Given the description of an element on the screen output the (x, y) to click on. 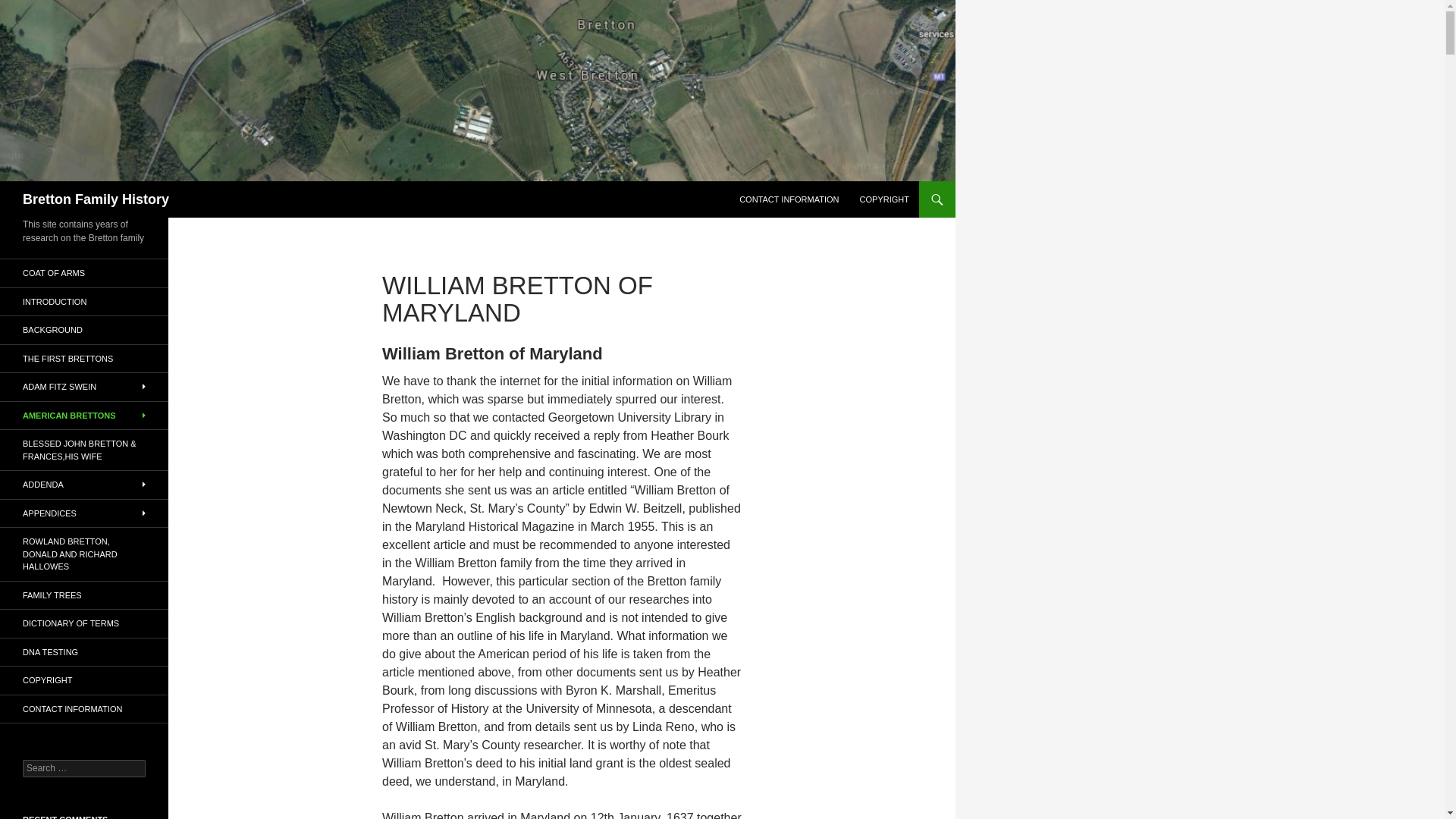
Bretton Family History (95, 198)
COAT OF ARMS (84, 273)
AMERICAN BRETTONS (84, 415)
INTRODUCTION (84, 302)
ADAM FITZ SWEIN (84, 387)
BACKGROUND (84, 329)
APPENDICES (84, 512)
DNA TESTING (84, 652)
THE FIRST BRETTONS (84, 357)
